Given the description of an element on the screen output the (x, y) to click on. 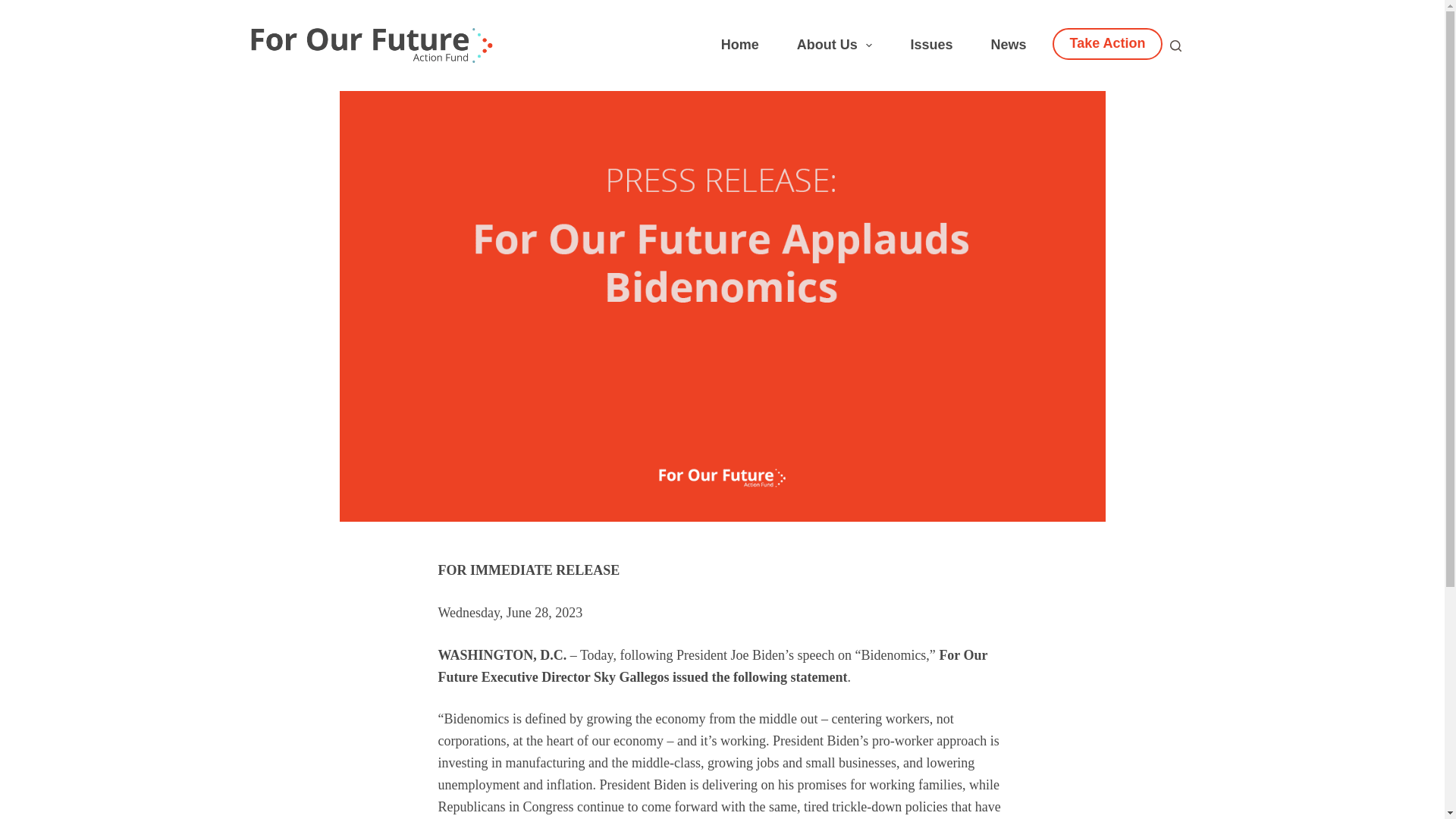
News (1008, 45)
Issues (931, 45)
Take Action (1106, 42)
Skip to content (15, 7)
Home (739, 45)
About Us (834, 45)
